Given the description of an element on the screen output the (x, y) to click on. 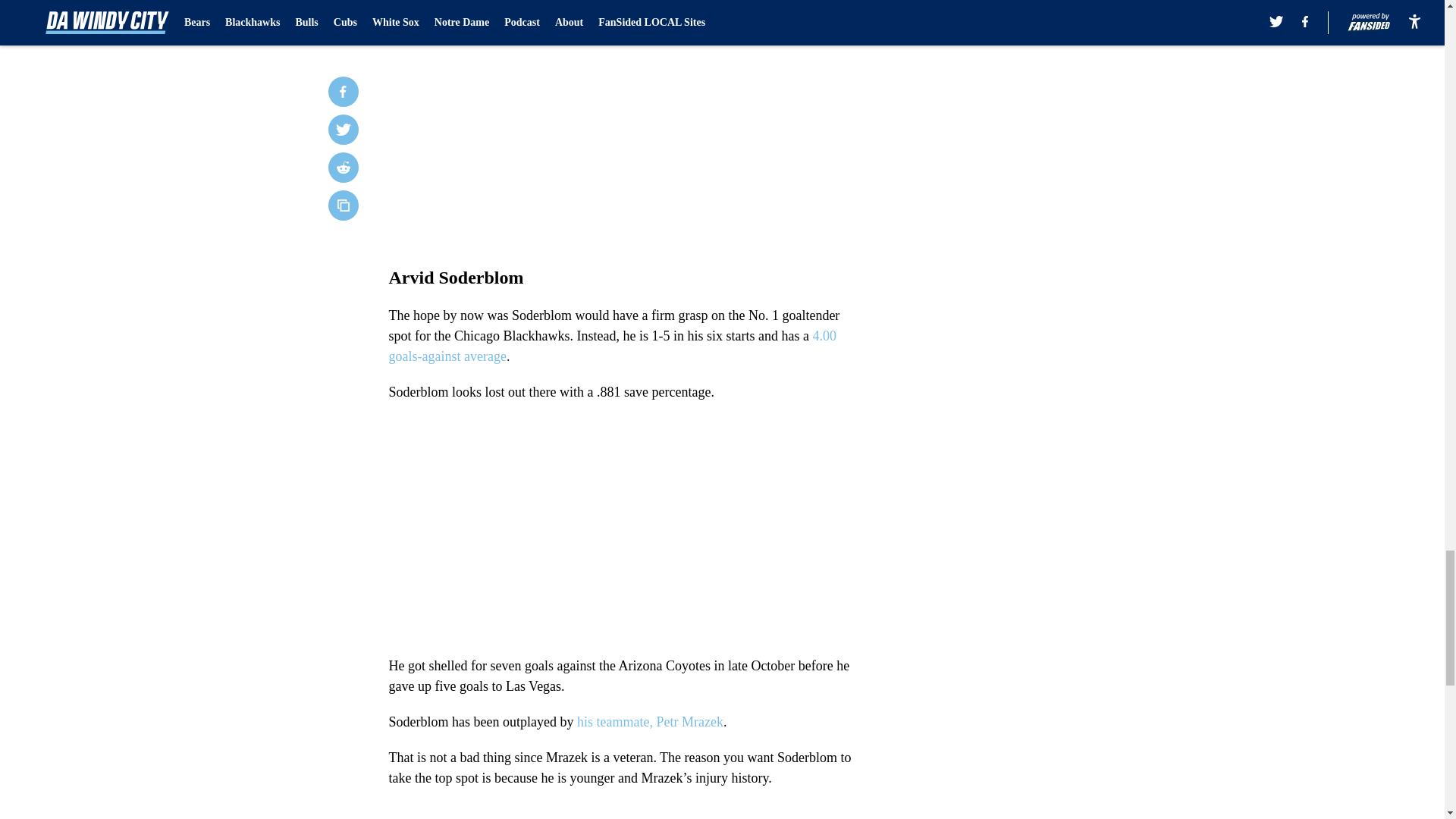
4.00 goals-against average (611, 345)
his teammate, Petr Mrazek (649, 721)
